Given the description of an element on the screen output the (x, y) to click on. 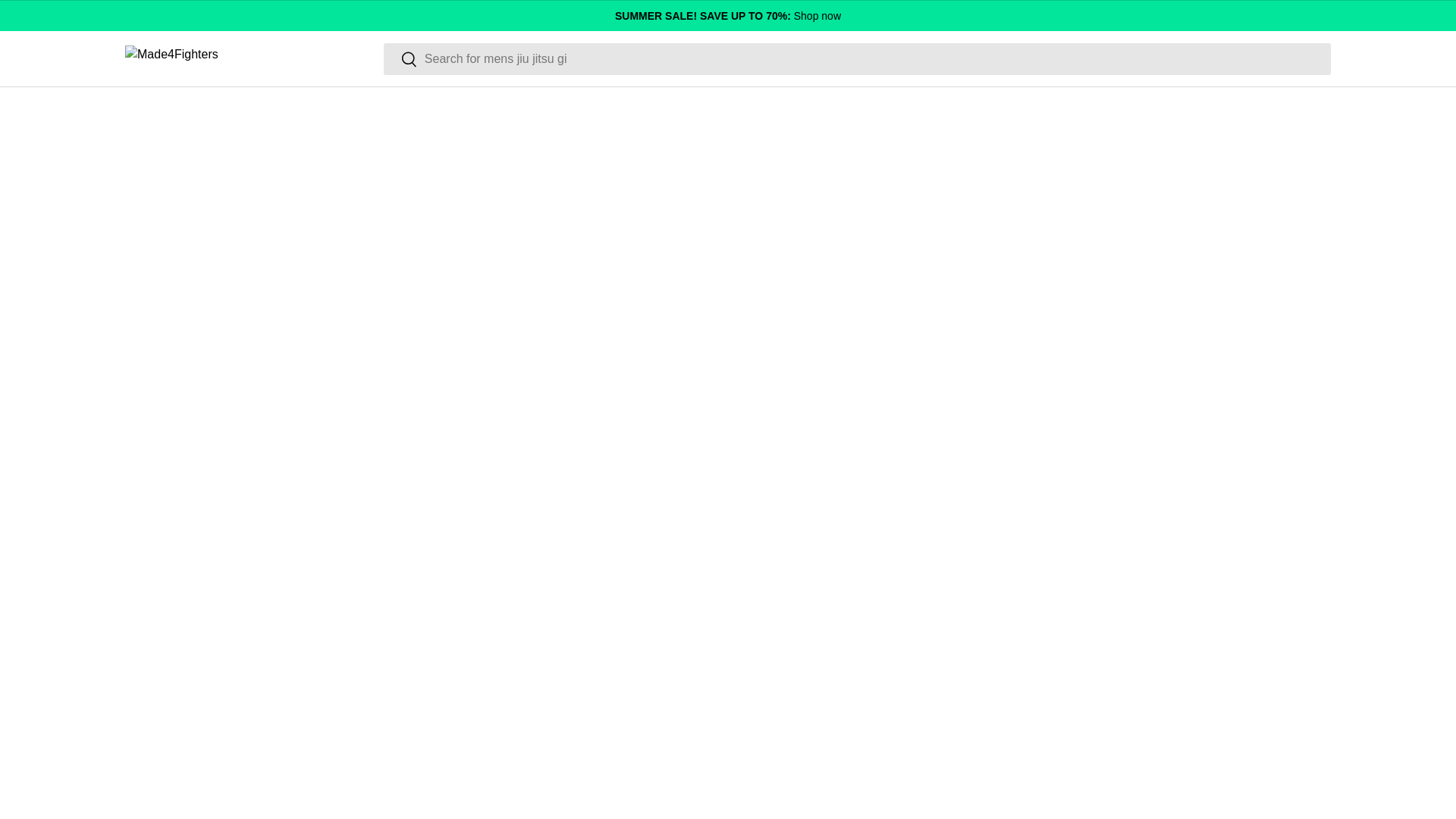
Search (400, 59)
Outlet (727, 15)
SKIP TO CONTENT (68, 21)
